Given the description of an element on the screen output the (x, y) to click on. 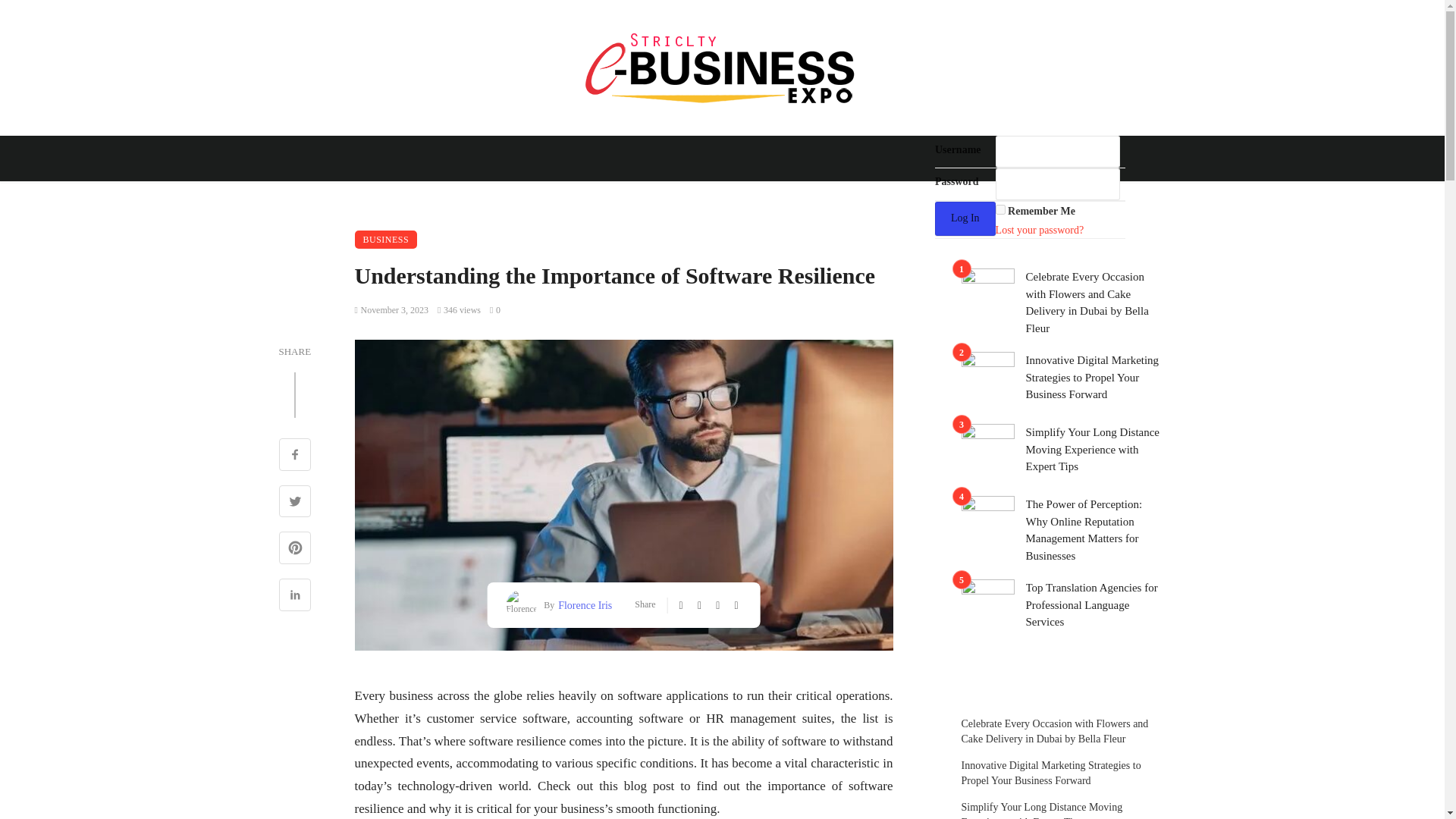
MANUFACTURE (794, 194)
0 (494, 309)
BUSINESS (410, 194)
MARKET (878, 194)
forever (1000, 209)
ENTREPRENEURS (508, 194)
SERVICES (952, 194)
0 Comments (494, 309)
Florence Iris (582, 605)
Log In (964, 218)
